Given the description of an element on the screen output the (x, y) to click on. 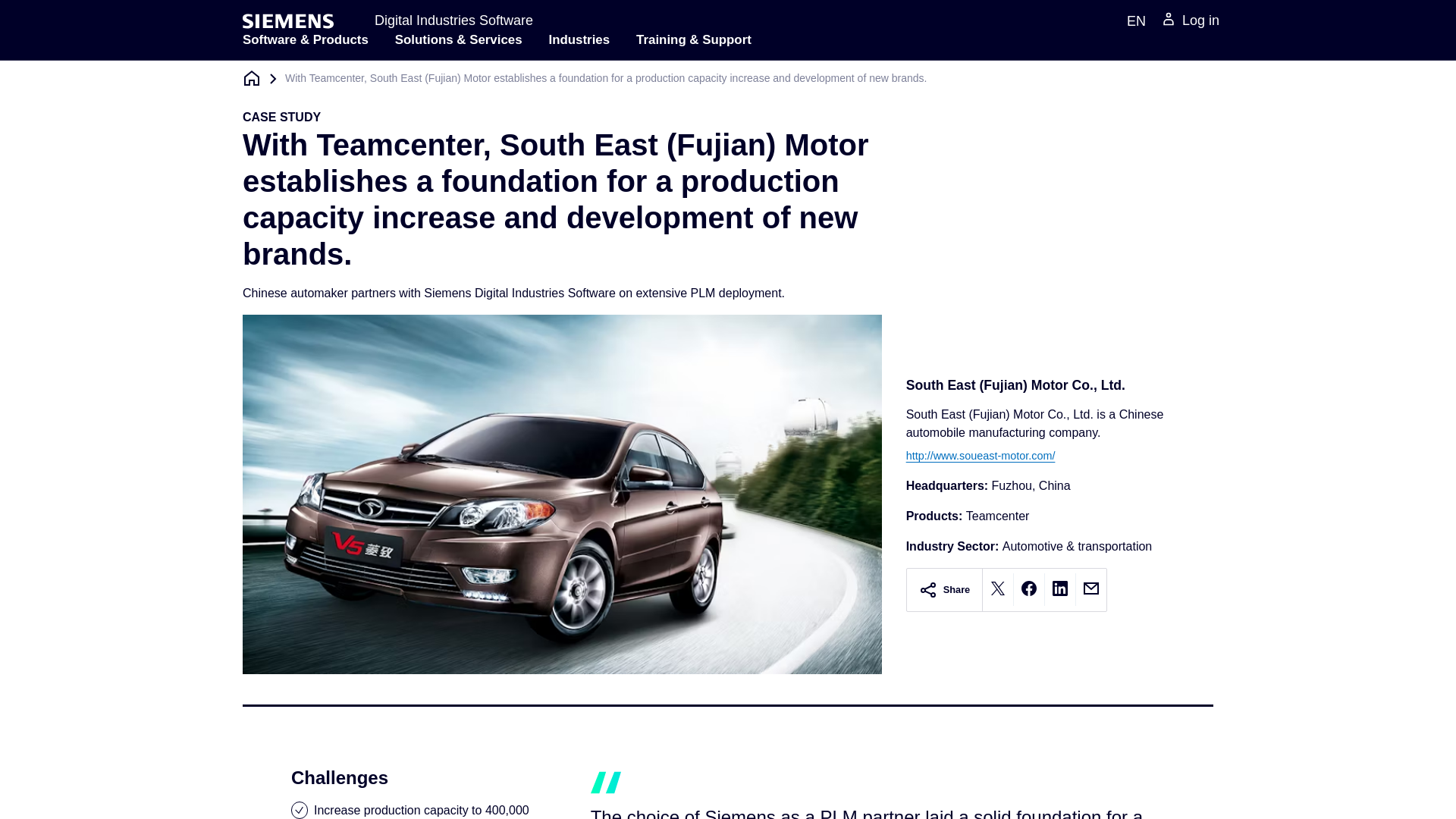
Digital Industries Software (453, 20)
Siemens (288, 20)
